Given the description of an element on the screen output the (x, y) to click on. 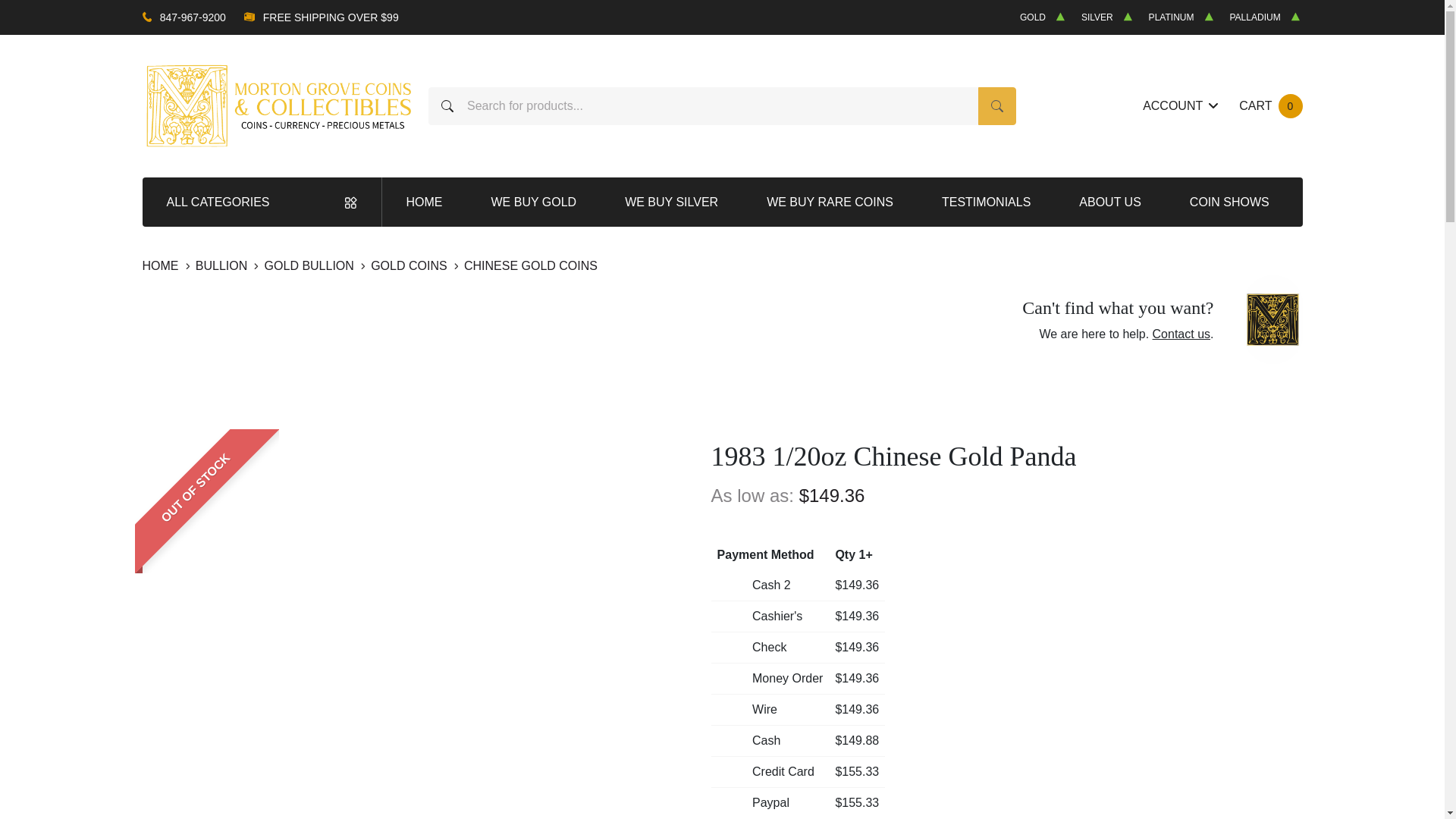
WE BUY SILVER (670, 201)
ACCOUNT (1179, 106)
TESTIMONIALS (985, 201)
HOME (162, 265)
GOLD BULLION (311, 265)
ALL CATEGORIES (261, 201)
GOLD COINS (410, 265)
CHINESE GOLD COINS (530, 265)
Contact us (1181, 333)
SEARCH (997, 105)
WE BUY RARE COINS (1270, 105)
COIN SHOWS (829, 201)
BULLION (1230, 201)
WE BUY GOLD (222, 265)
